Given the description of an element on the screen output the (x, y) to click on. 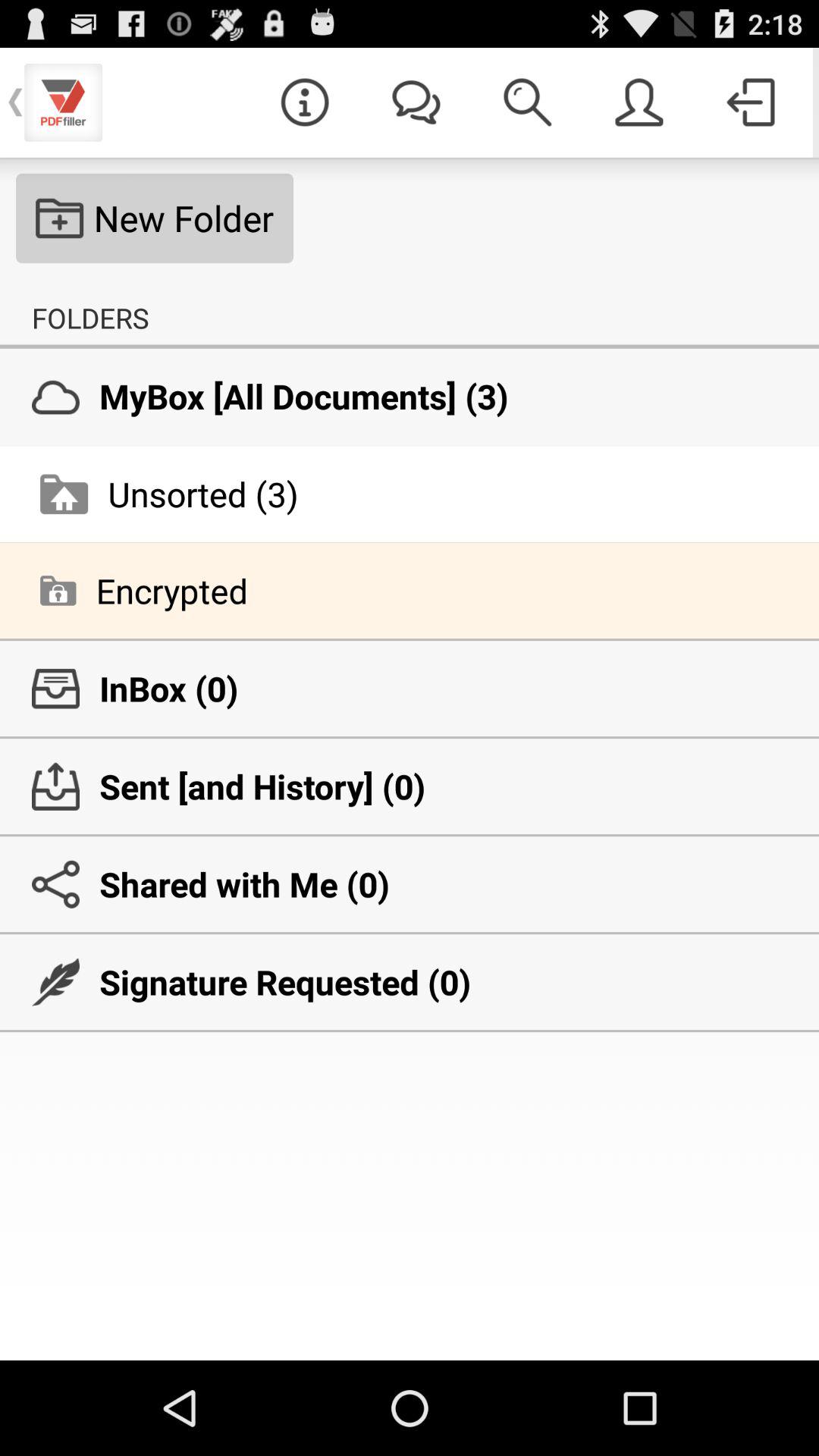
turn on the inbox (0) app (409, 688)
